Given the description of an element on the screen output the (x, y) to click on. 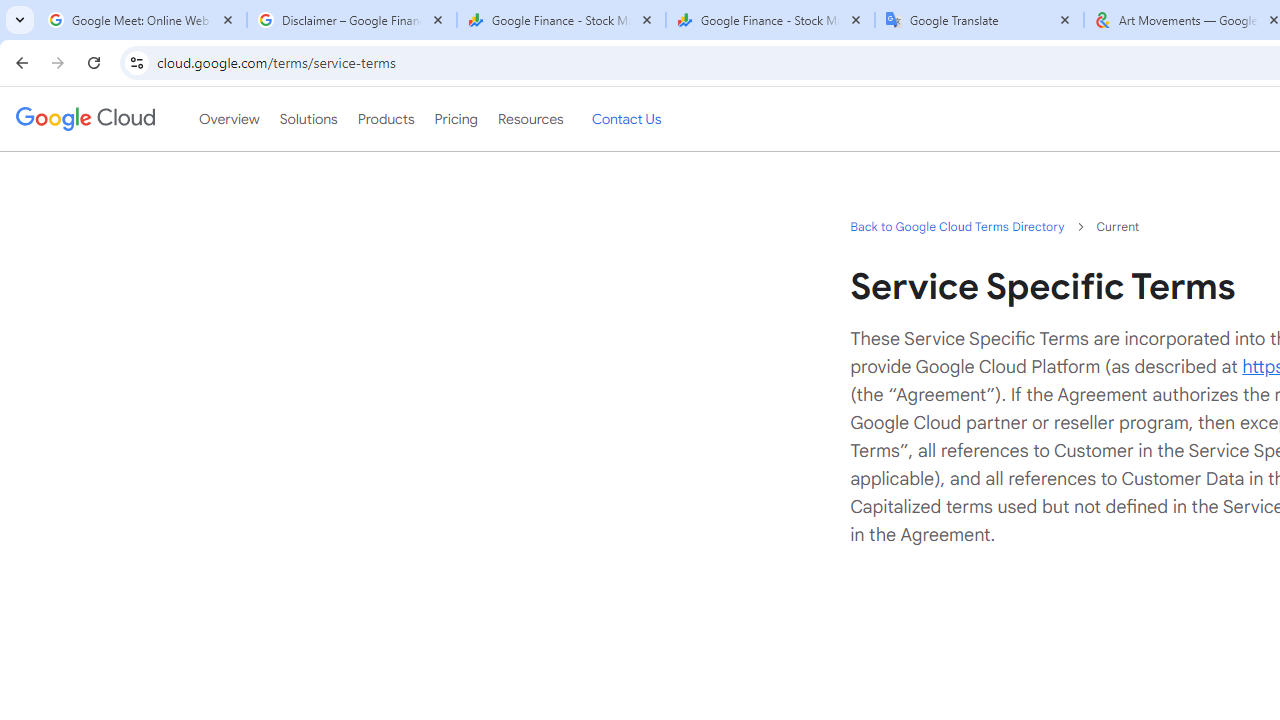
Pricing (455, 119)
Back to Google Cloud Terms Directory (956, 226)
Products (385, 119)
Resources (530, 119)
Contact Us (626, 119)
Solutions (308, 119)
